Given the description of an element on the screen output the (x, y) to click on. 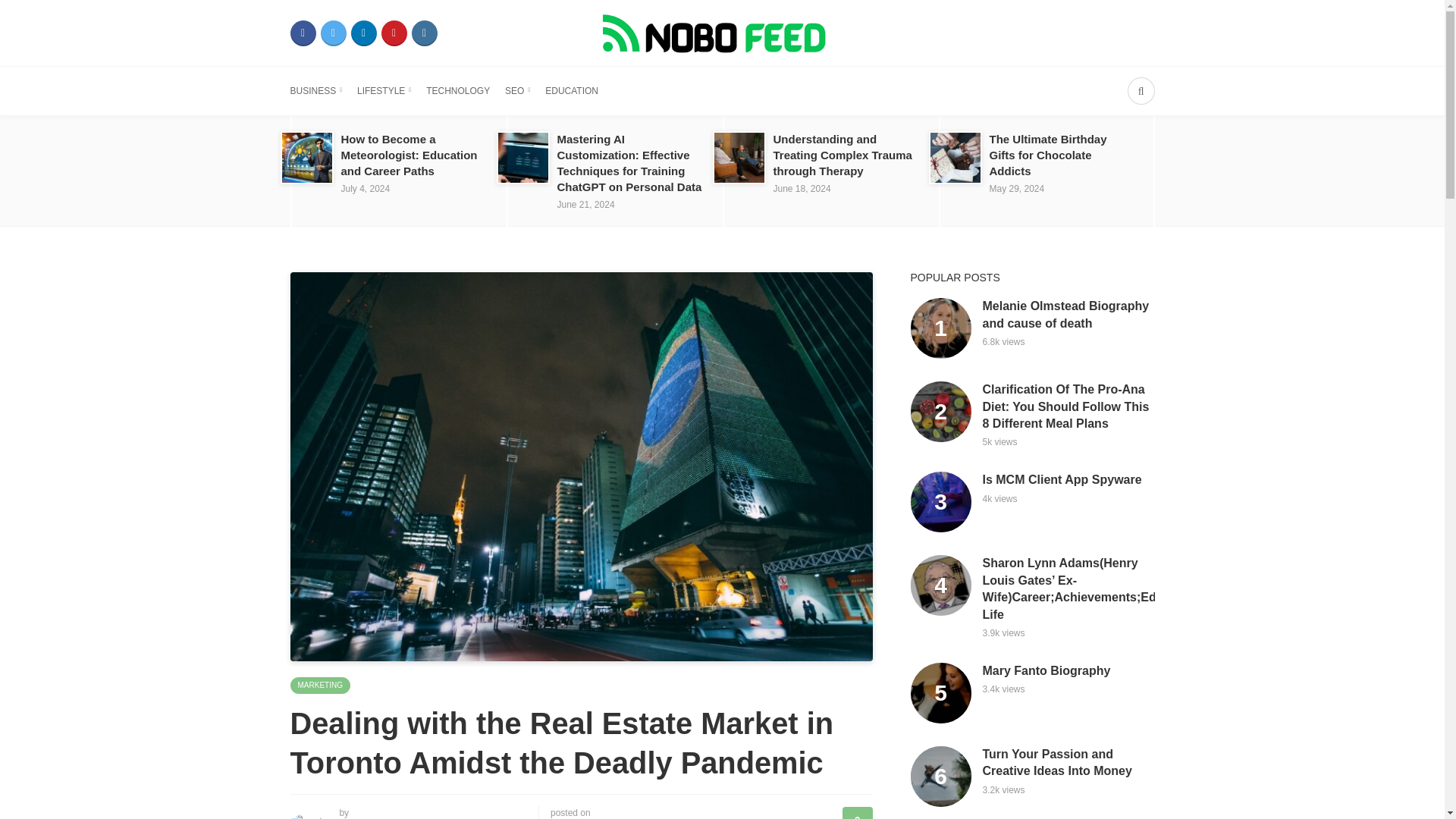
SEO (517, 90)
How to Become a Meteorologist: Education and Career Paths (408, 154)
Pinterest (393, 32)
Instagram (423, 32)
BUSINESS (315, 90)
twitter (333, 32)
Nobofeed (721, 32)
Linkedin (362, 32)
TECHNOLOGY (457, 90)
facebook (302, 32)
LIFESTYLE (383, 90)
May 29, 2024 (1015, 188)
June 18, 2024 (802, 188)
EDUCATION (571, 90)
